Given the description of an element on the screen output the (x, y) to click on. 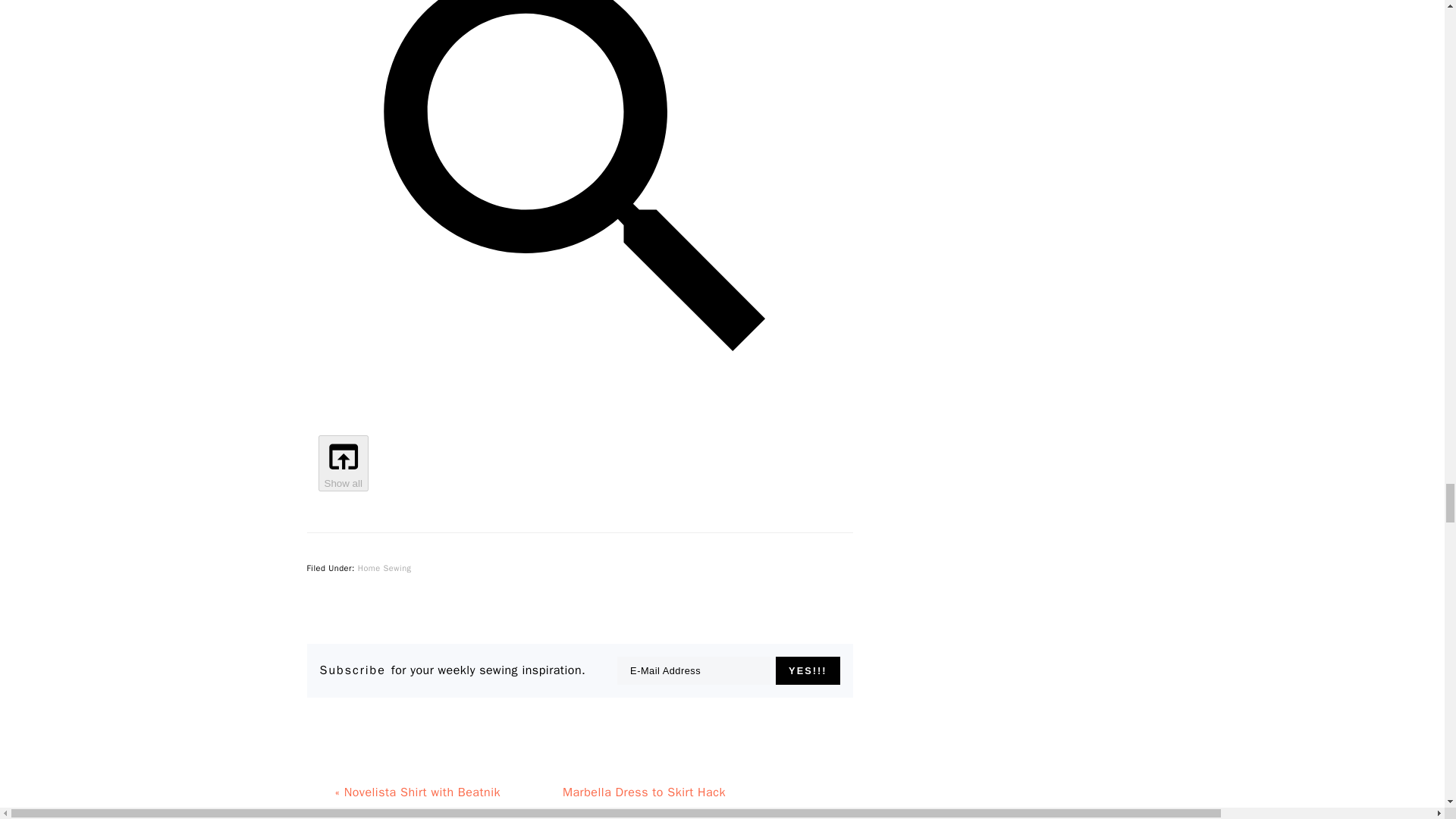
Yes!!! (808, 670)
